Given the description of an element on the screen output the (x, y) to click on. 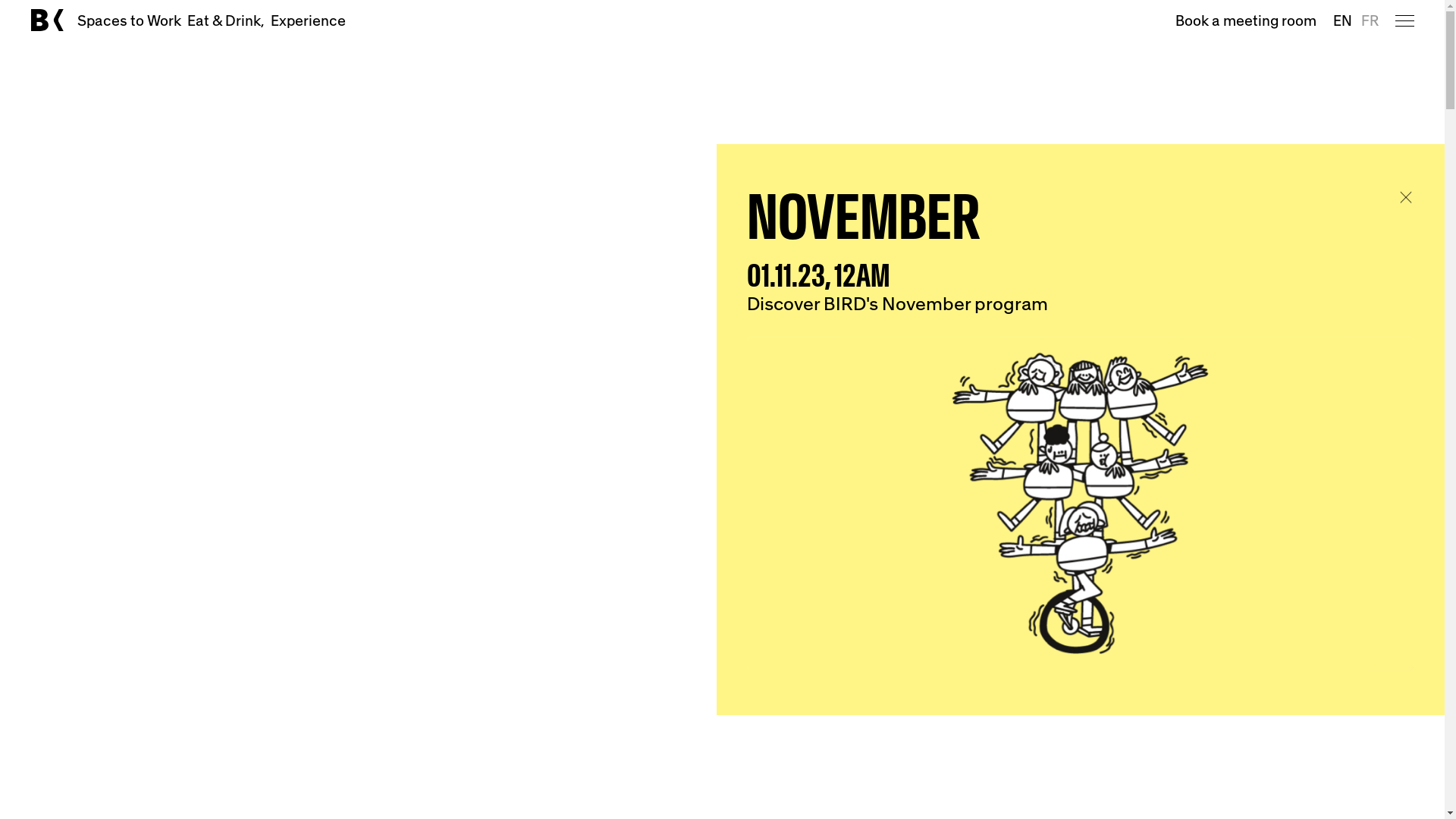
Eat & Drink, Element type: text (225, 19)
Spaces to Work Element type: text (129, 19)
Book a meeting room Element type: text (1245, 19)
NOVEMBER Element type: text (862, 216)
Experience Element type: text (307, 19)
EN Element type: text (1342, 20)
FR Element type: text (1369, 20)
